Given the description of an element on the screen output the (x, y) to click on. 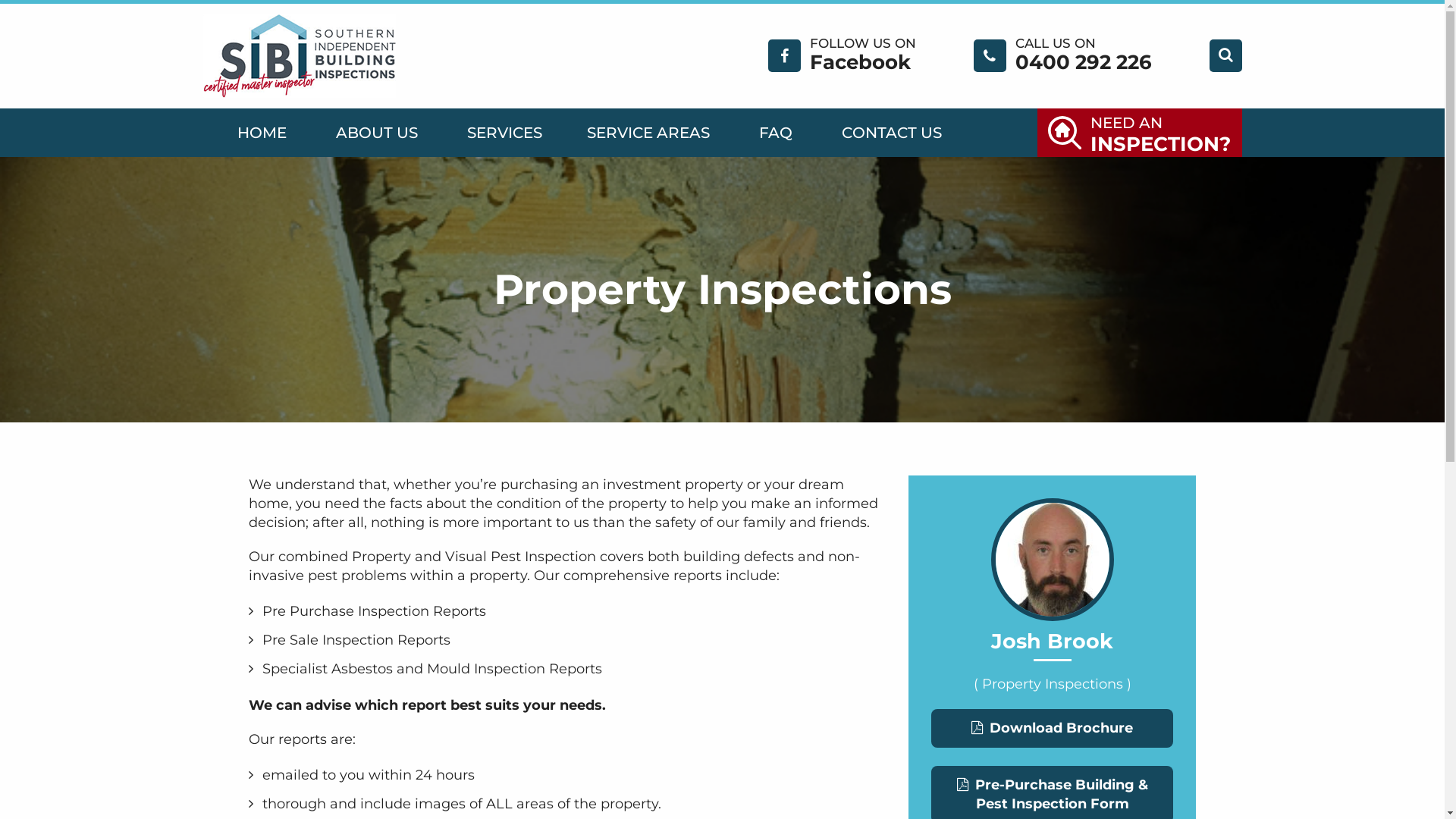
0400 292 226 Element type: text (1082, 62)
SERVICES Element type: text (502, 132)
HOME Element type: text (260, 132)
SERVICE AREAS Element type: text (648, 132)
NEED AN
INSPECTION? Element type: text (1139, 132)
Facebook Element type: text (859, 62)
Download Brochure Element type: text (1052, 728)
CONTACT US Element type: text (891, 132)
ABOUT US Element type: text (375, 132)
FAQ Element type: text (774, 132)
